Given the description of an element on the screen output the (x, y) to click on. 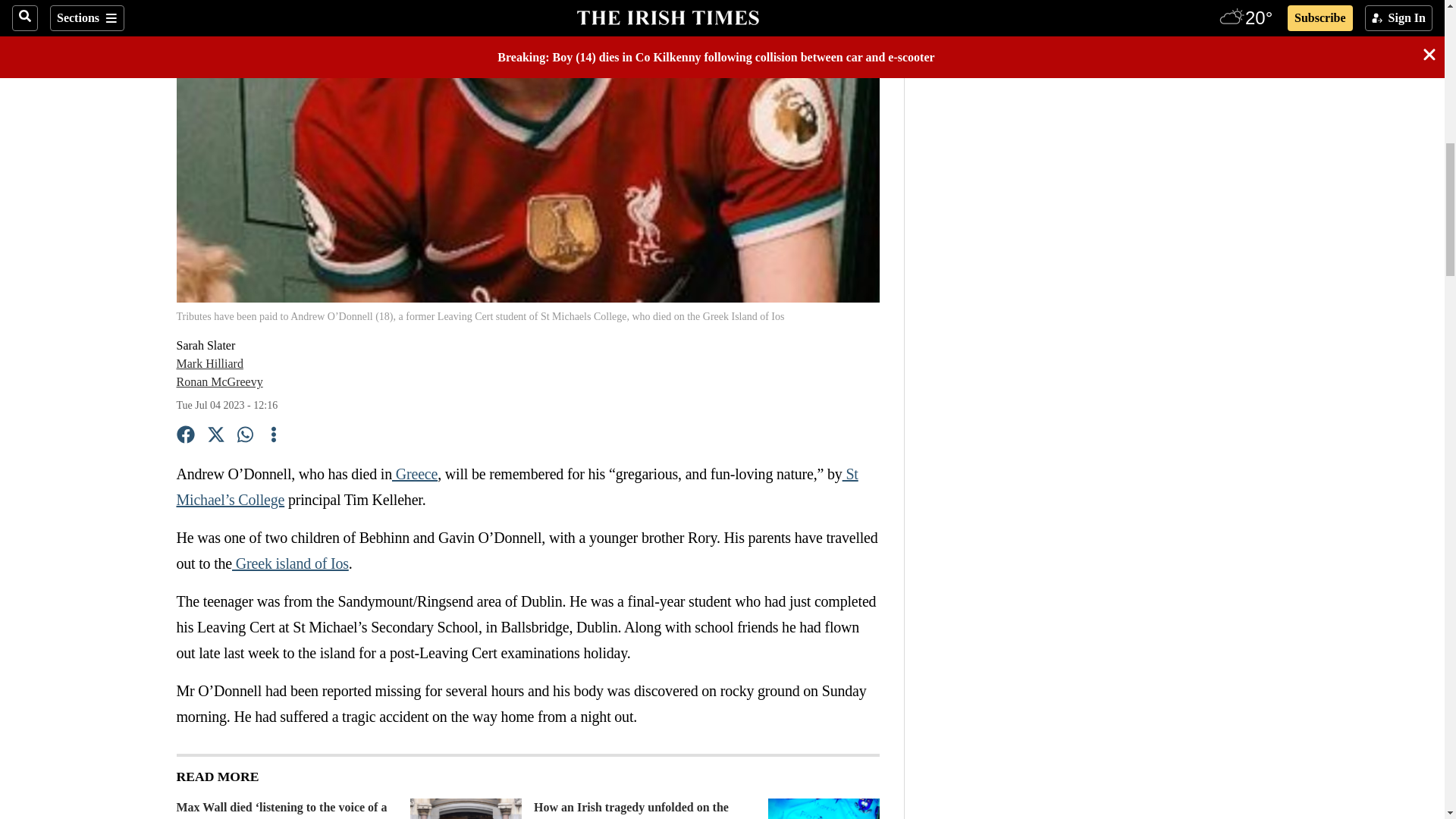
Facebook (184, 436)
WhatsApp (244, 436)
X (215, 436)
